Given the description of an element on the screen output the (x, y) to click on. 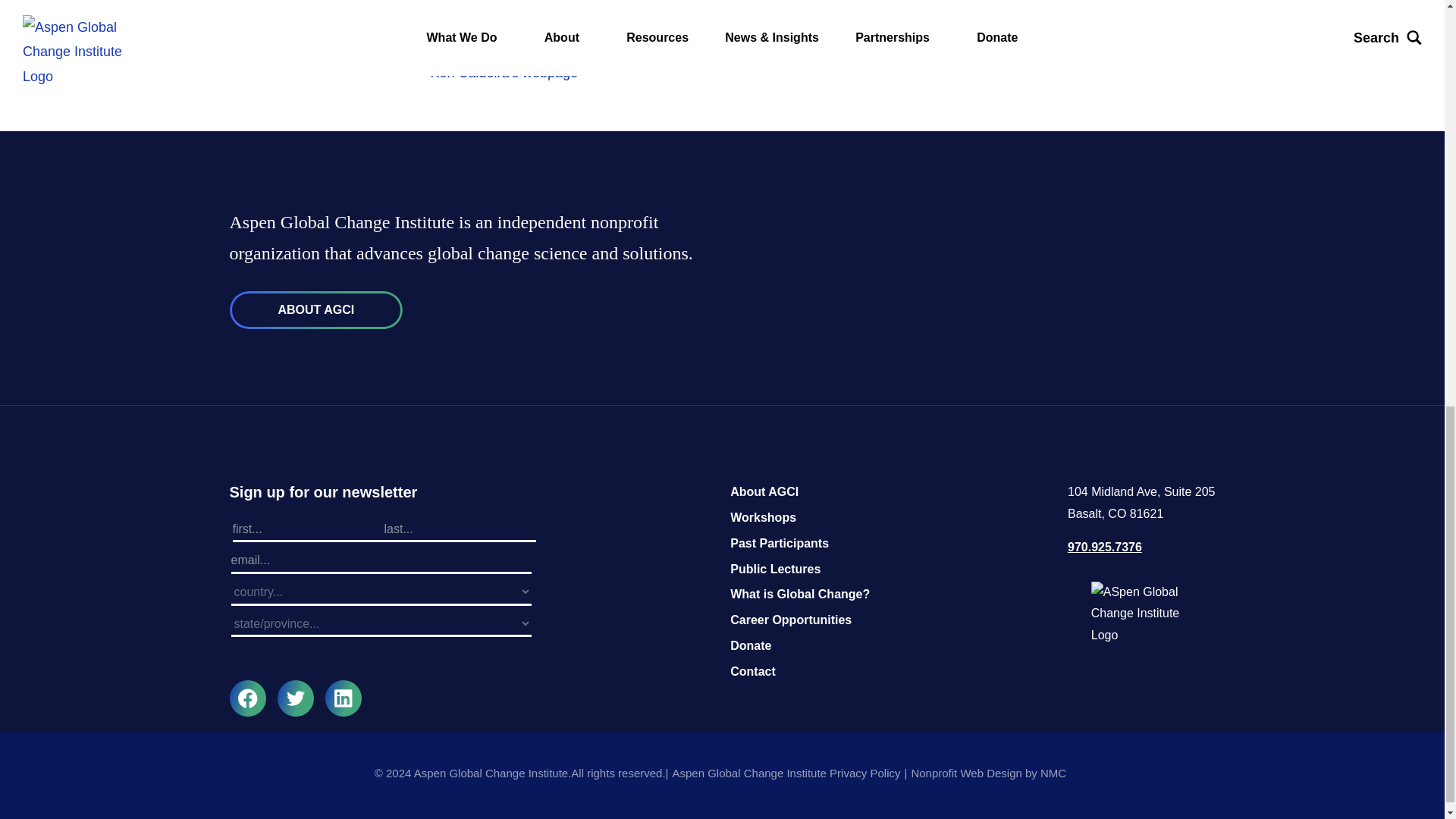
Submit (380, 662)
ABOUT AGCI (315, 310)
Ken Caldeira's webpage (504, 72)
